Given the description of an element on the screen output the (x, y) to click on. 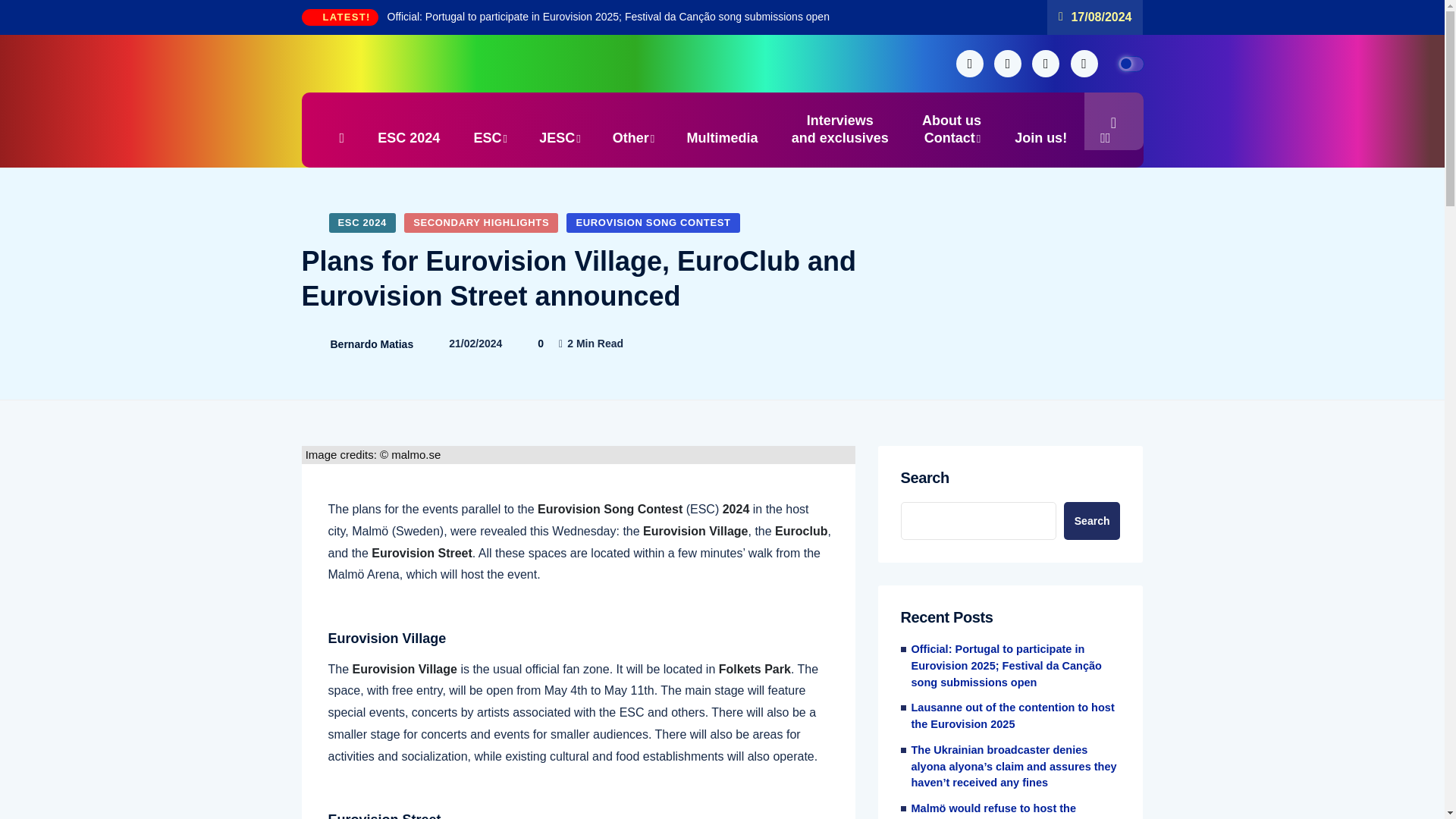
ESC 2024 (408, 138)
SECONDARY HIGHLIGHTS (480, 222)
Bernardo Matias (951, 129)
EUROVISION SONG CONTEST (371, 344)
ESC 2024 (652, 222)
Join us! (362, 222)
Other (1039, 129)
Multimedia (840, 129)
